Given the description of an element on the screen output the (x, y) to click on. 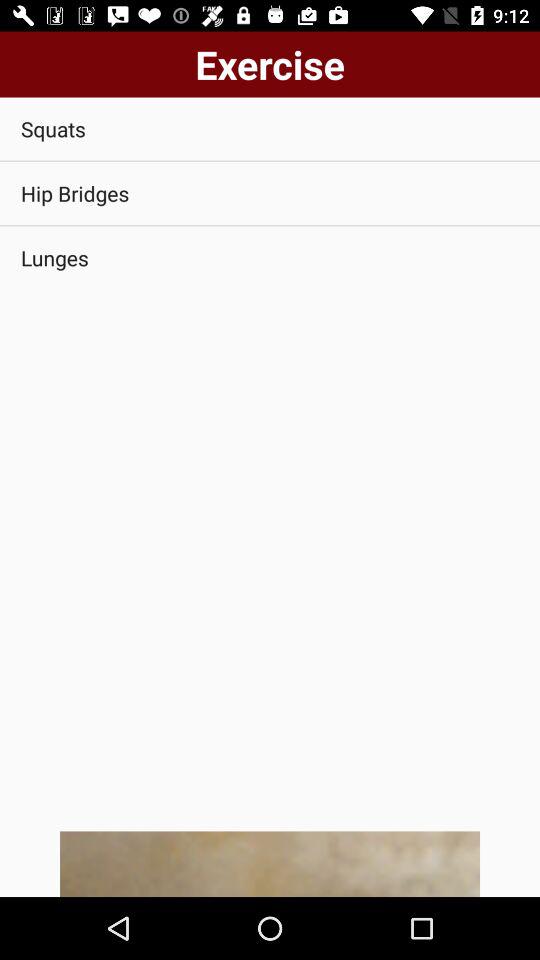
select the item above hip bridges (270, 128)
